Given the description of an element on the screen output the (x, y) to click on. 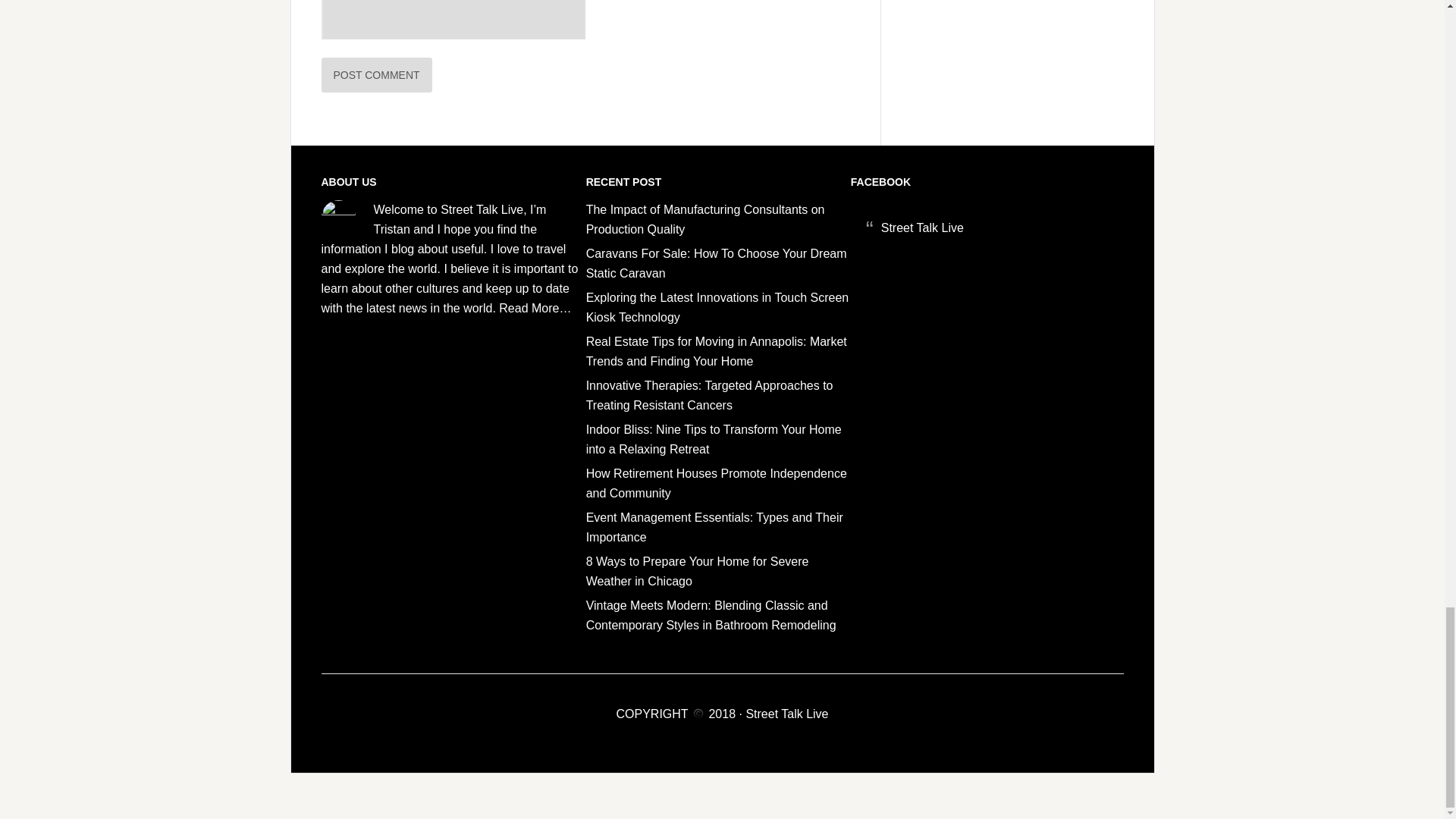
:copyright: (698, 713)
Post Comment (376, 74)
Post Comment (376, 74)
